Given the description of an element on the screen output the (x, y) to click on. 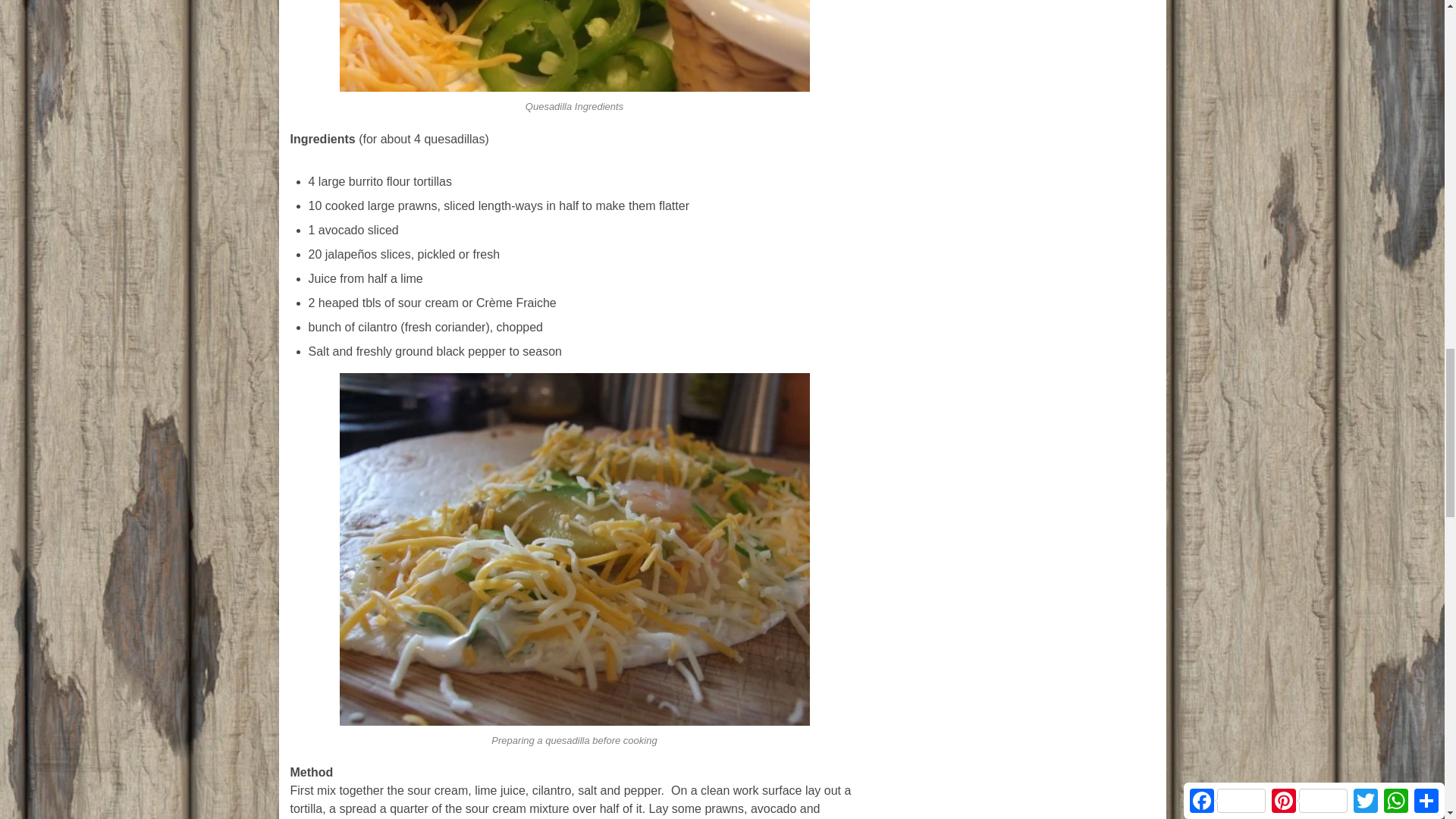
Quesadilla Ingredients (574, 45)
